Given the description of an element on the screen output the (x, y) to click on. 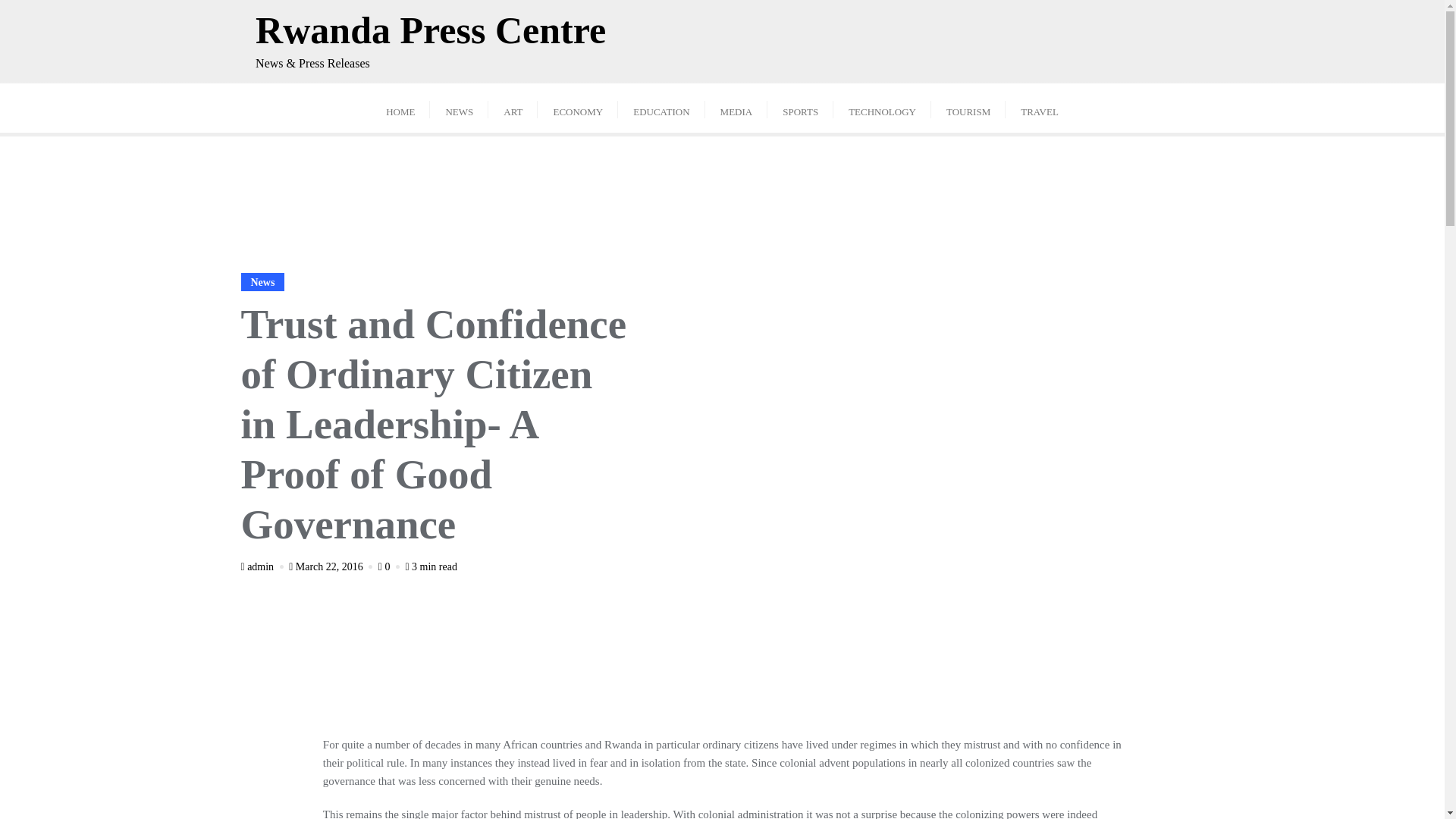
3 min read (430, 566)
SPORTS (799, 107)
TOURISM (968, 107)
News (263, 281)
March 22, 2016 (331, 566)
MEDIA (736, 107)
ECONOMY (577, 107)
ART (512, 107)
TRAVEL (1040, 107)
EDUCATION (660, 107)
HOME (400, 107)
0 (390, 566)
NEWS (458, 107)
admin (263, 566)
TECHNOLOGY (881, 107)
